Given the description of an element on the screen output the (x, y) to click on. 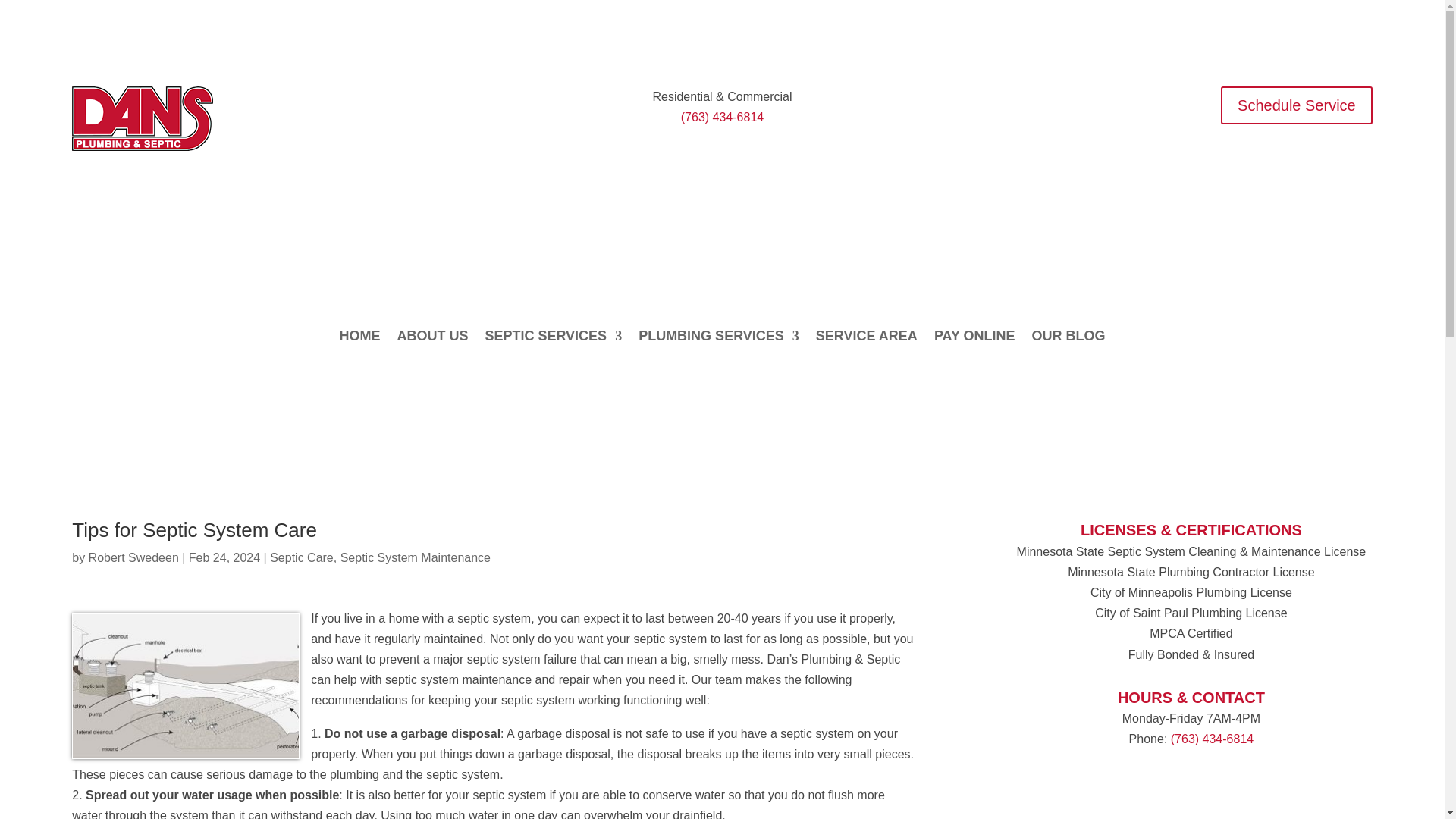
Posts by Robert Swedeen (133, 557)
Septic System Maintenance (415, 557)
OUR BLOG (1068, 338)
Septic Care (301, 557)
SEPTIC SERVICES (552, 338)
PAY ONLINE (974, 338)
Robert Swedeen (133, 557)
Schedule Service (1297, 105)
PLUMBING SERVICES (719, 338)
SERVICE AREA (866, 338)
